Given the description of an element on the screen output the (x, y) to click on. 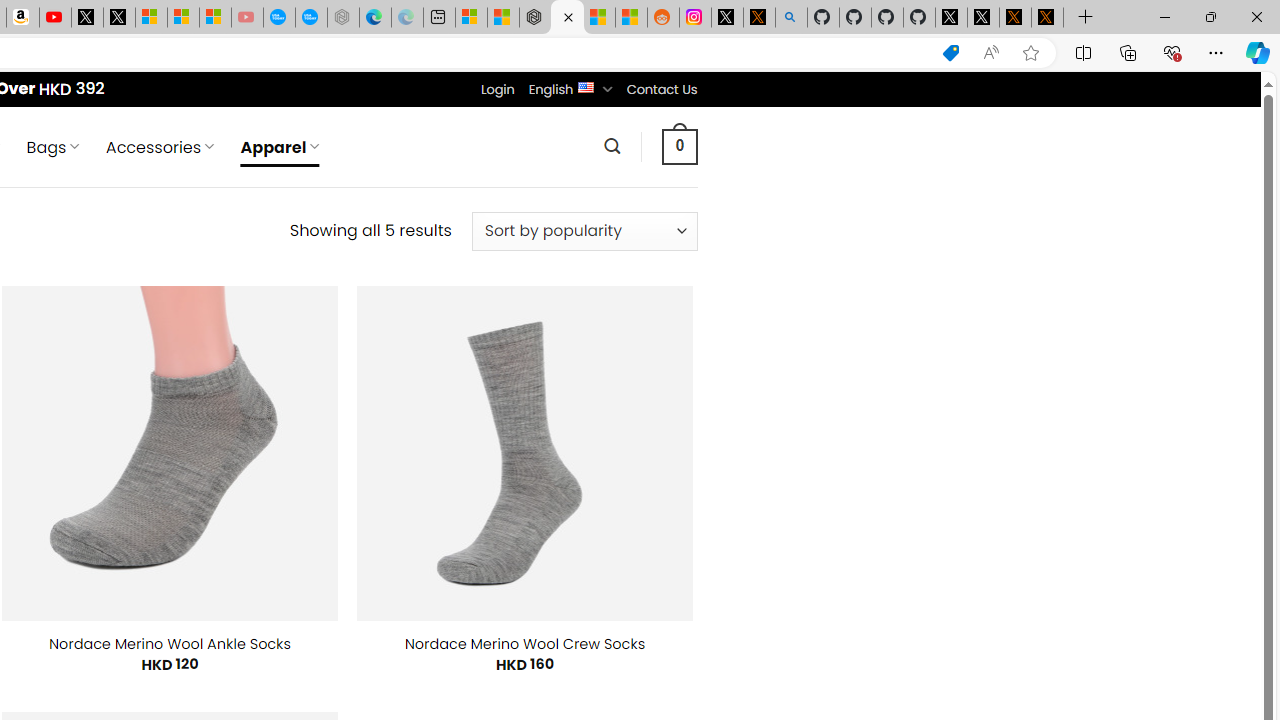
Gloom - YouTube - Sleeping (246, 17)
GitHub (@github) / X (983, 17)
